Given the description of an element on the screen output the (x, y) to click on. 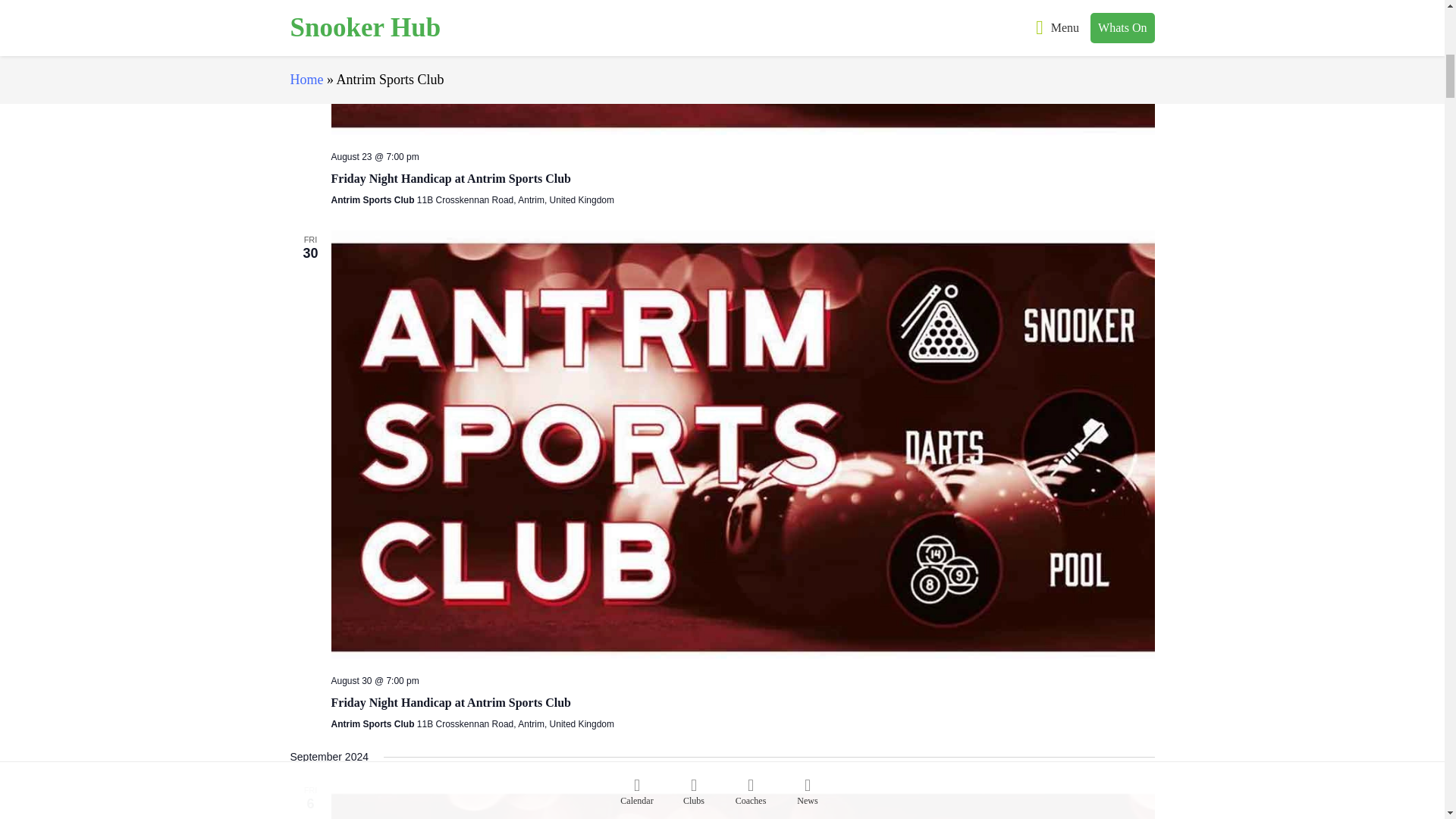
Friday Night Handicap at Antrim Sports Club (742, 800)
Friday Night Handicap at Antrim Sports Club (450, 703)
Friday Night Handicap at Antrim Sports Club (742, 69)
Friday Night Handicap at Antrim Sports Club (450, 178)
Friday Night Handicap at Antrim Sports Club (450, 703)
Friday Night Handicap at Antrim Sports Club (450, 178)
